Given the description of an element on the screen output the (x, y) to click on. 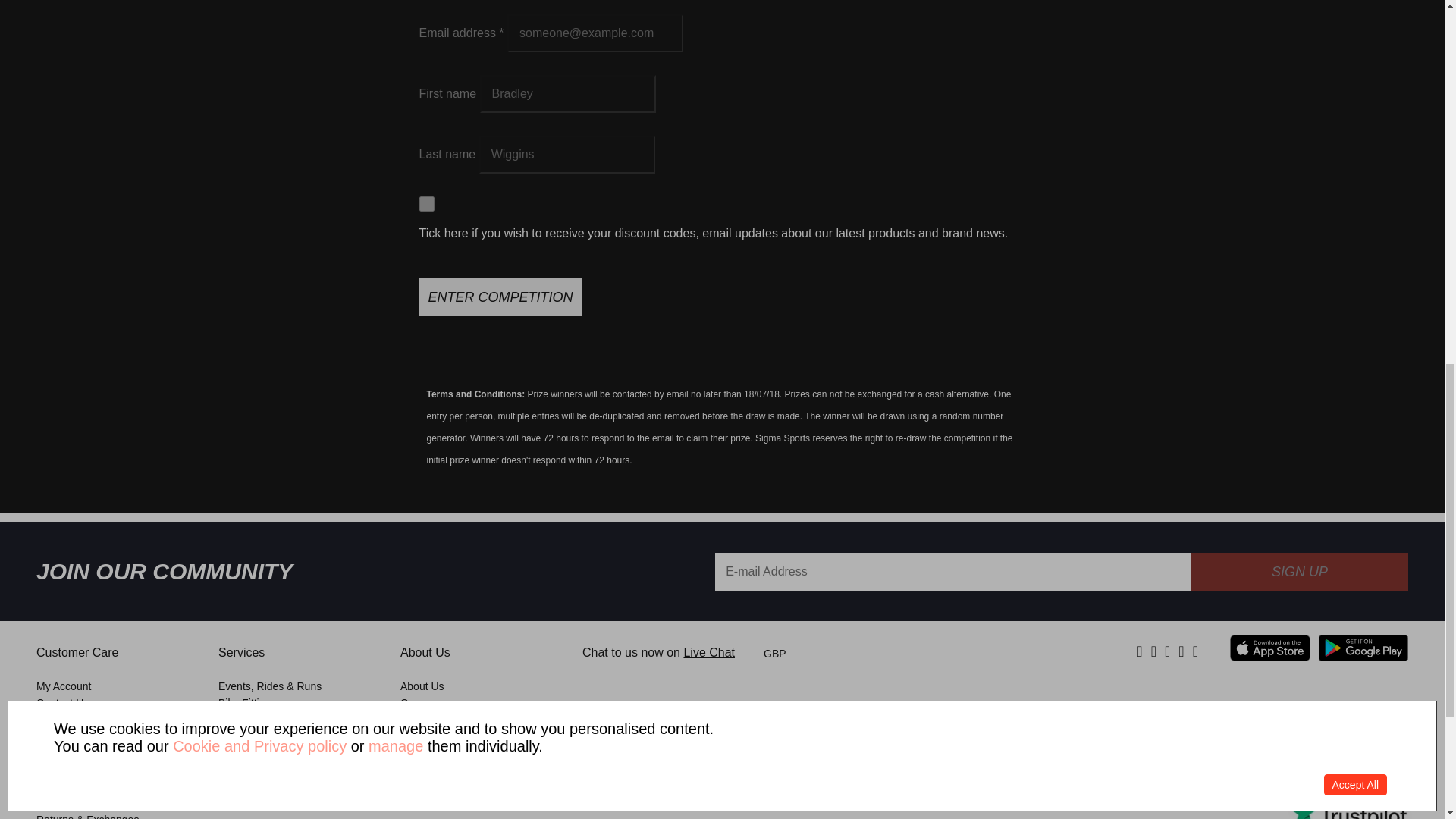
Enter Competition (499, 297)
Sign Up (1299, 571)
on (426, 203)
